Given the description of an element on the screen output the (x, y) to click on. 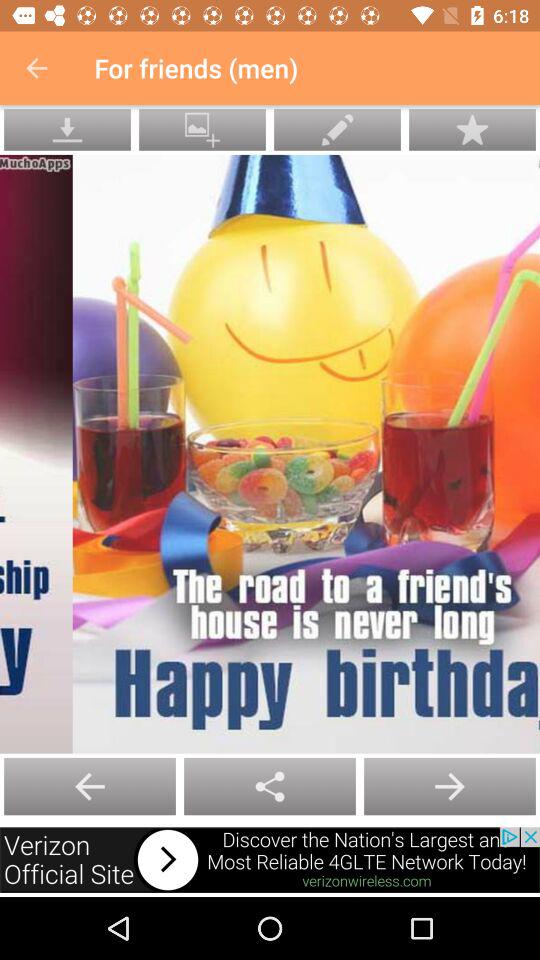
click the advertisement (270, 859)
